Given the description of an element on the screen output the (x, y) to click on. 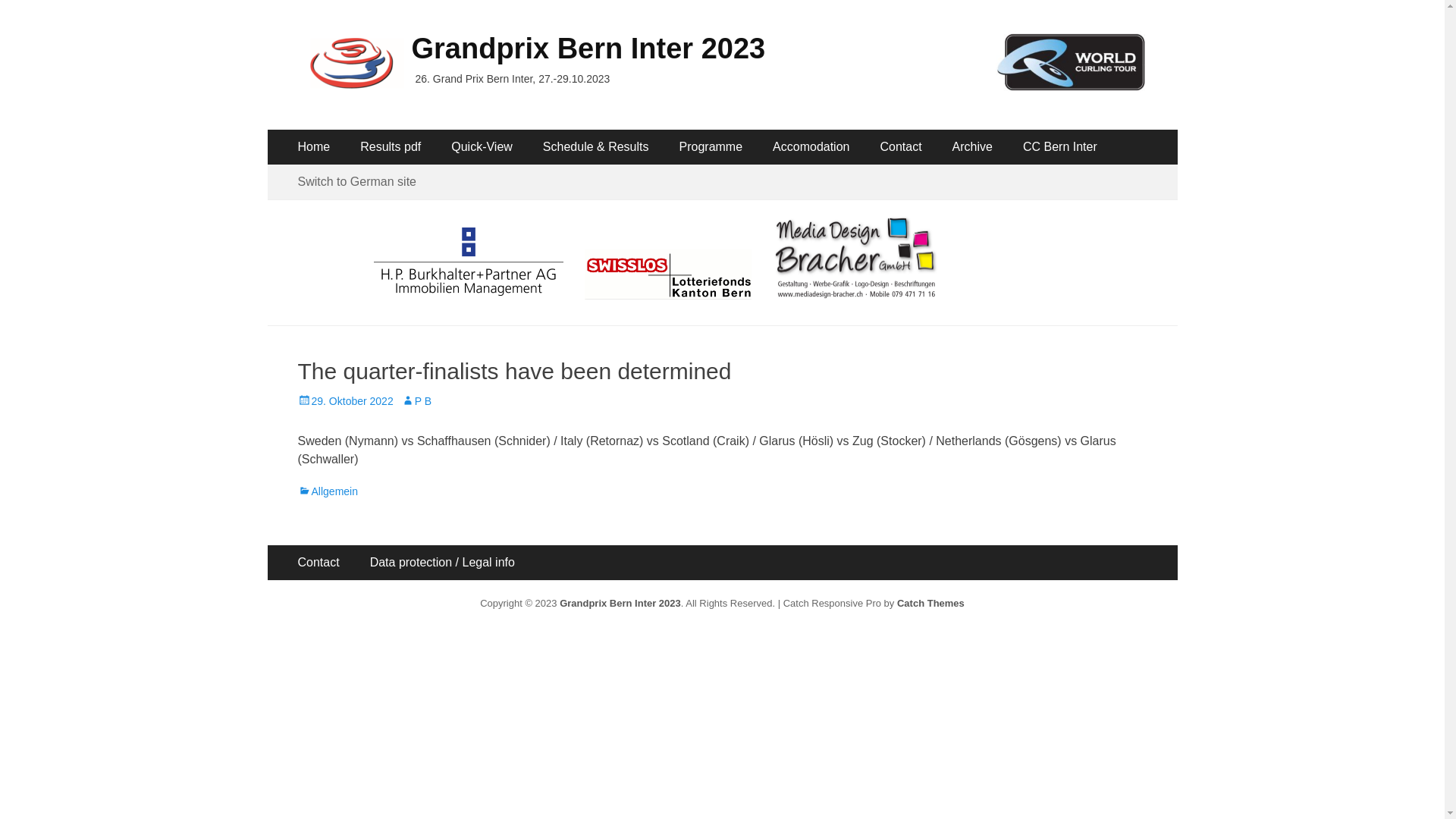
Contact Element type: text (318, 562)
Swisslos Kanton Bern Element type: hover (678, 291)
Media Design Bracher Element type: hover (855, 291)
Home Element type: text (313, 146)
Grandprix Bern Inter 2023 Element type: text (619, 602)
Accomodation Element type: text (810, 146)
H. P. Burkhalter + Partner AG Element type: hover (478, 291)
Contact Element type: text (900, 146)
P B Element type: text (416, 401)
Quick-View Element type: text (481, 146)
29. Oktober 2022 Element type: text (344, 401)
Catch Themes Element type: text (930, 602)
Switch to German site Element type: text (356, 181)
Grandprix Bern Inter 2023 Element type: text (588, 48)
CC Bern Inter Element type: text (1059, 146)
Archive Element type: text (972, 146)
Data protection / Legal info Element type: text (442, 562)
Results pdf Element type: text (390, 146)
Allgemein Element type: text (327, 491)
Schedule & Results Element type: text (595, 146)
Programme Element type: text (711, 146)
